Given the description of an element on the screen output the (x, y) to click on. 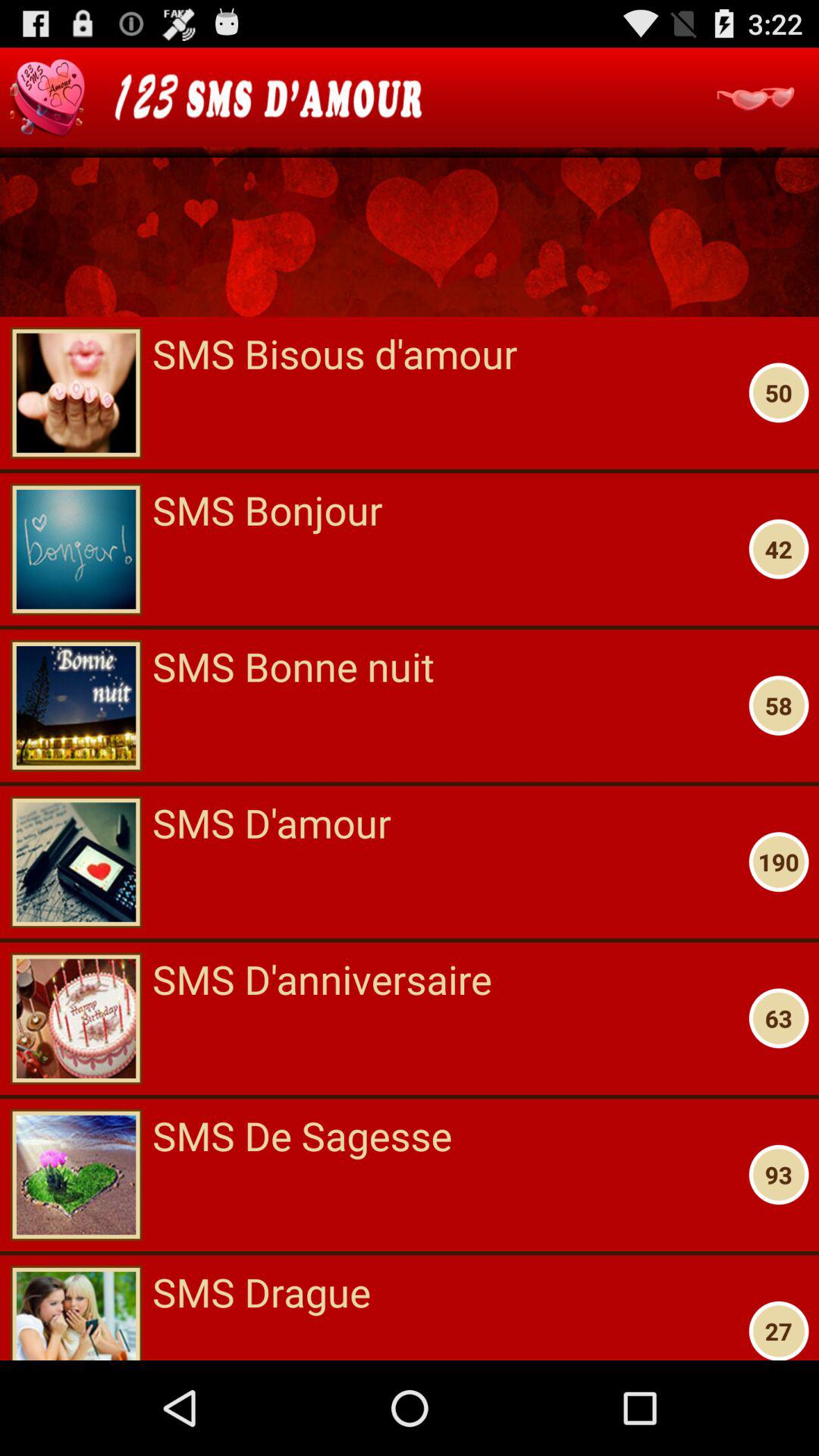
see more options (755, 97)
